Given the description of an element on the screen output the (x, y) to click on. 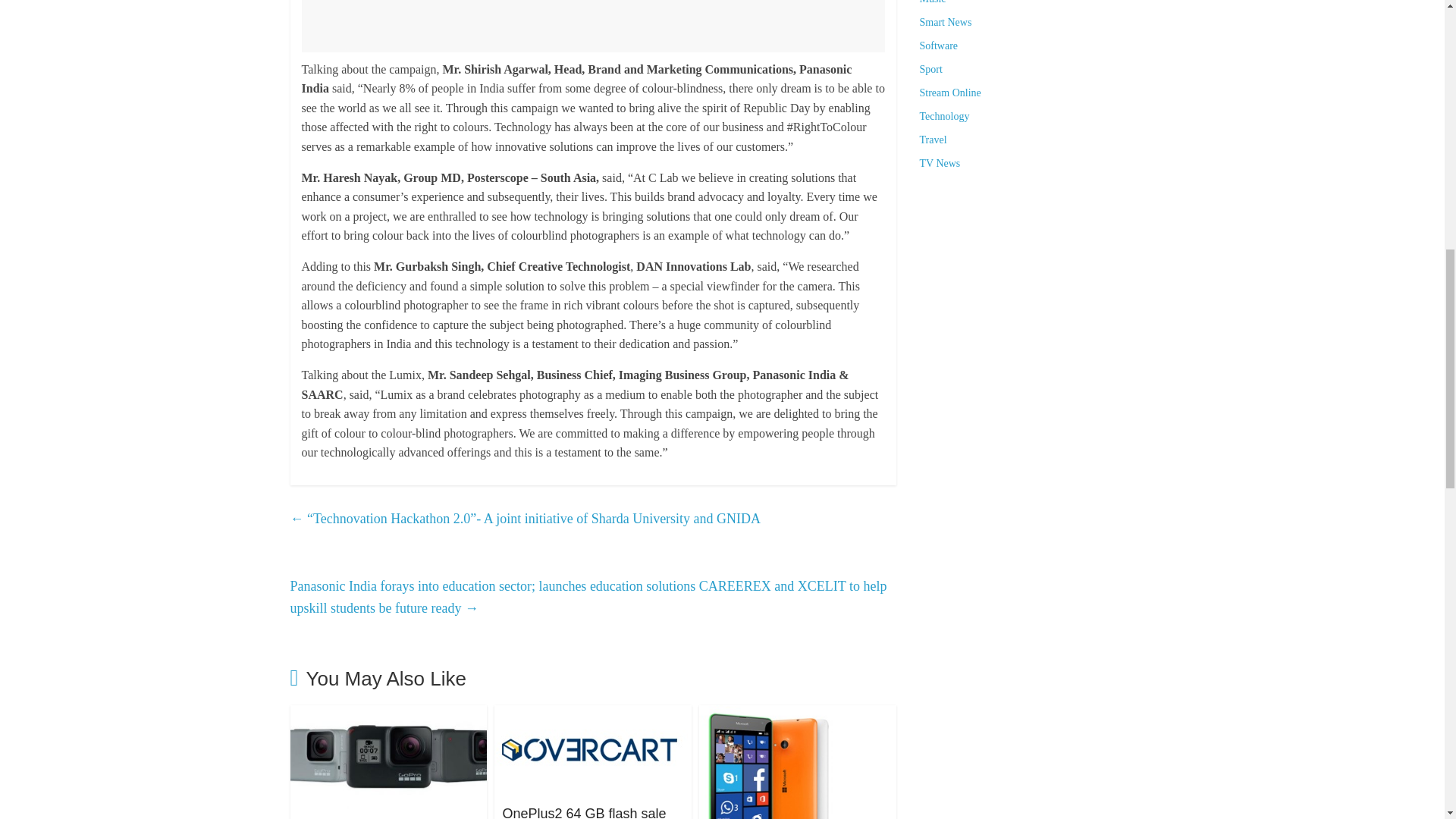
OnePlus2 64 GB flash sale on Overcart.com starting Rs.18,749 (591, 714)
OnePlus2 64 GB flash sale on Overcart.com starting Rs.18,749 (583, 812)
OnePlus2 64 GB flash sale on Overcart.com starting Rs.18,749 (583, 812)
Advertisement (593, 26)
